Given the description of an element on the screen output the (x, y) to click on. 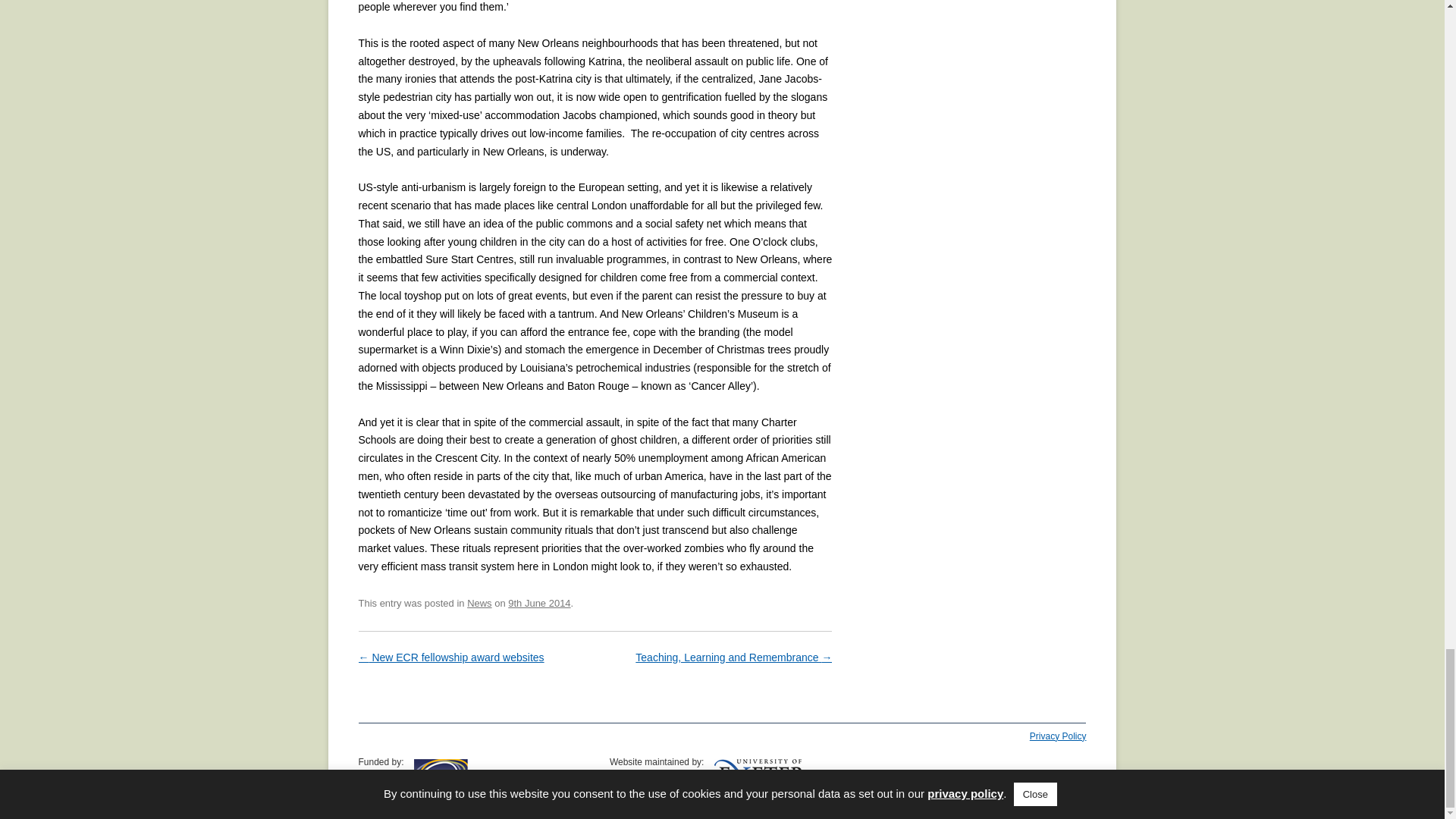
News (479, 603)
Privacy Policy (1057, 736)
University of Exeter (759, 776)
15:37 (539, 603)
9th June 2014 (539, 603)
